Given the description of an element on the screen output the (x, y) to click on. 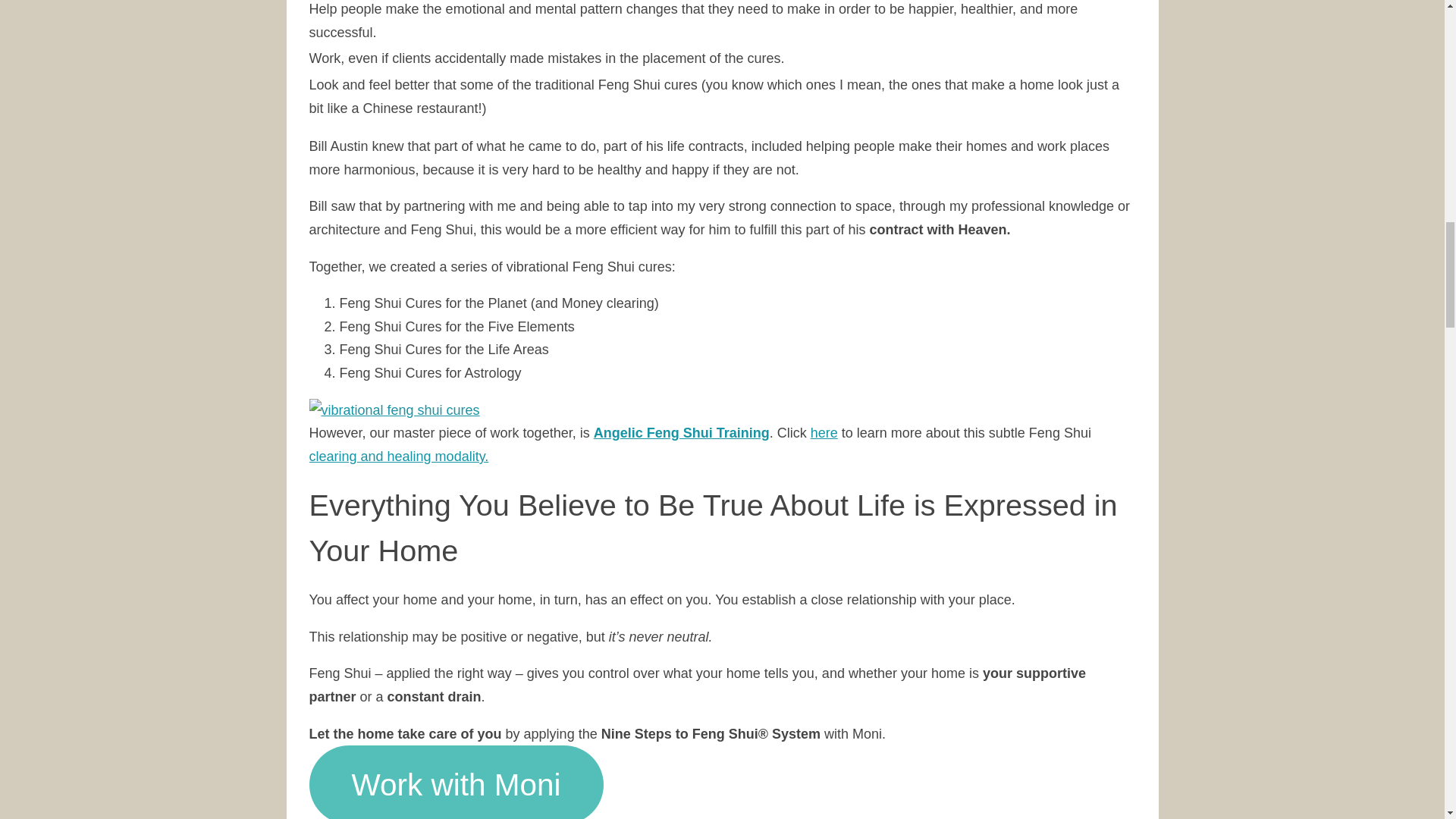
clearing and healing modality. (398, 456)
Angelic Feng Shui Training (682, 432)
vibrational feng shui cures (394, 410)
here (824, 432)
Work with Moni (456, 782)
